Given the description of an element on the screen output the (x, y) to click on. 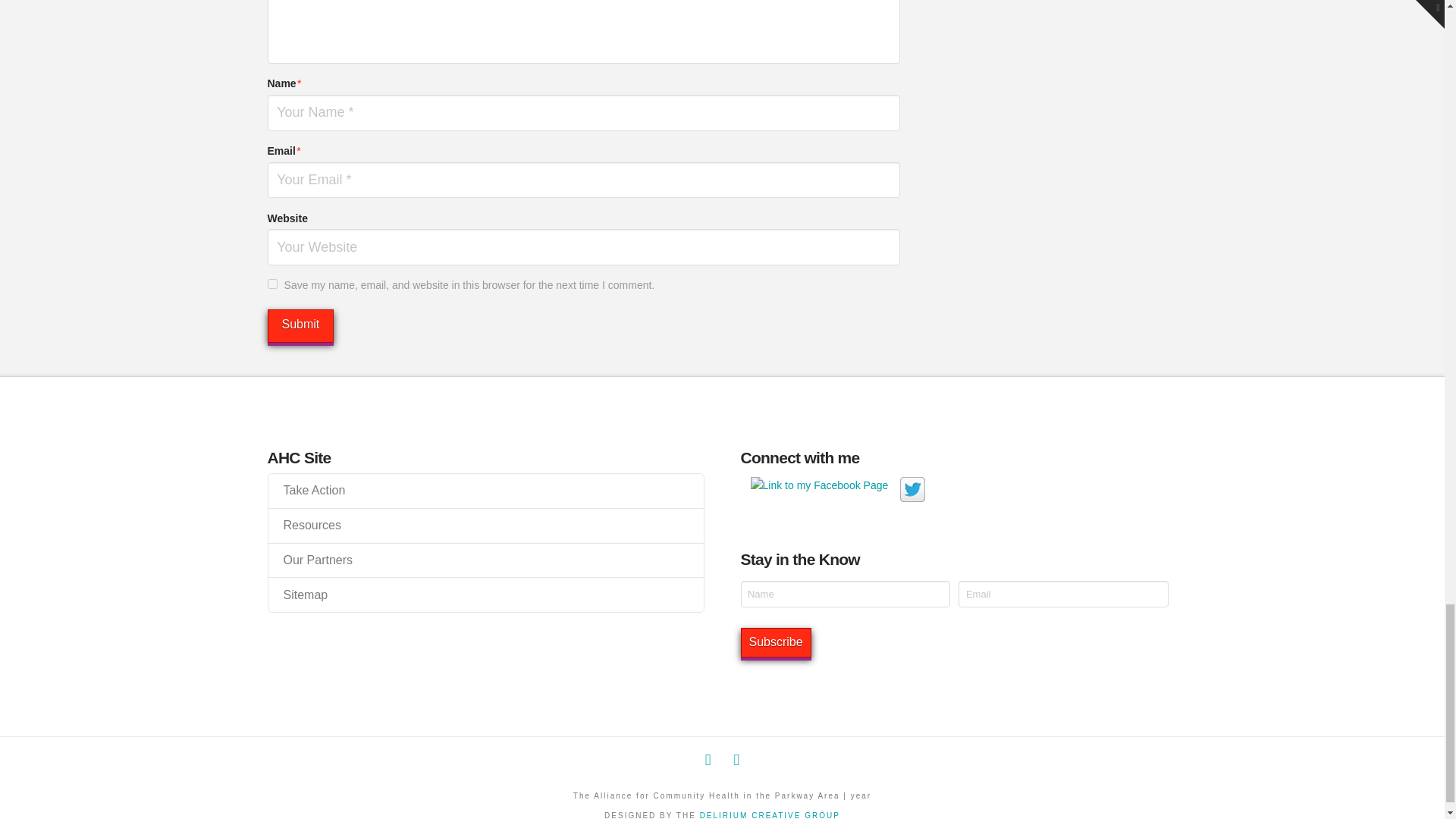
Link to my Facebook Page (819, 485)
Link to my Twitter Page (911, 489)
Submit (299, 326)
yes (271, 284)
